Given the description of an element on the screen output the (x, y) to click on. 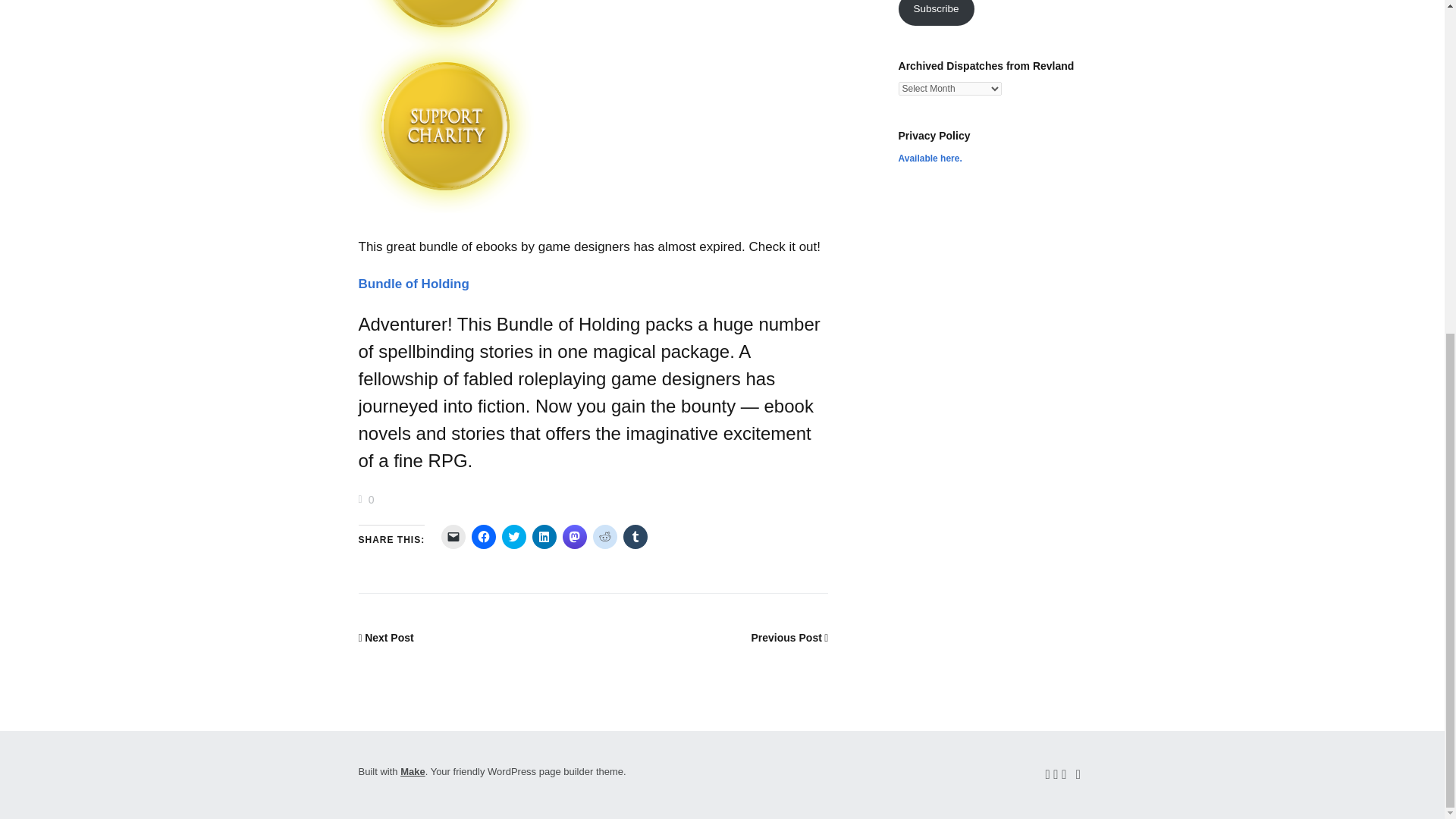
Next Post (385, 637)
Click to share on LinkedIn (544, 536)
Make (412, 771)
Subscribe (936, 12)
Click to share on Facebook (483, 536)
Click to share on Tumblr (635, 536)
Click to email a link to a friend (453, 536)
Click to share on Twitter (513, 536)
Available here. (930, 158)
Previous Post (789, 637)
